Given the description of an element on the screen output the (x, y) to click on. 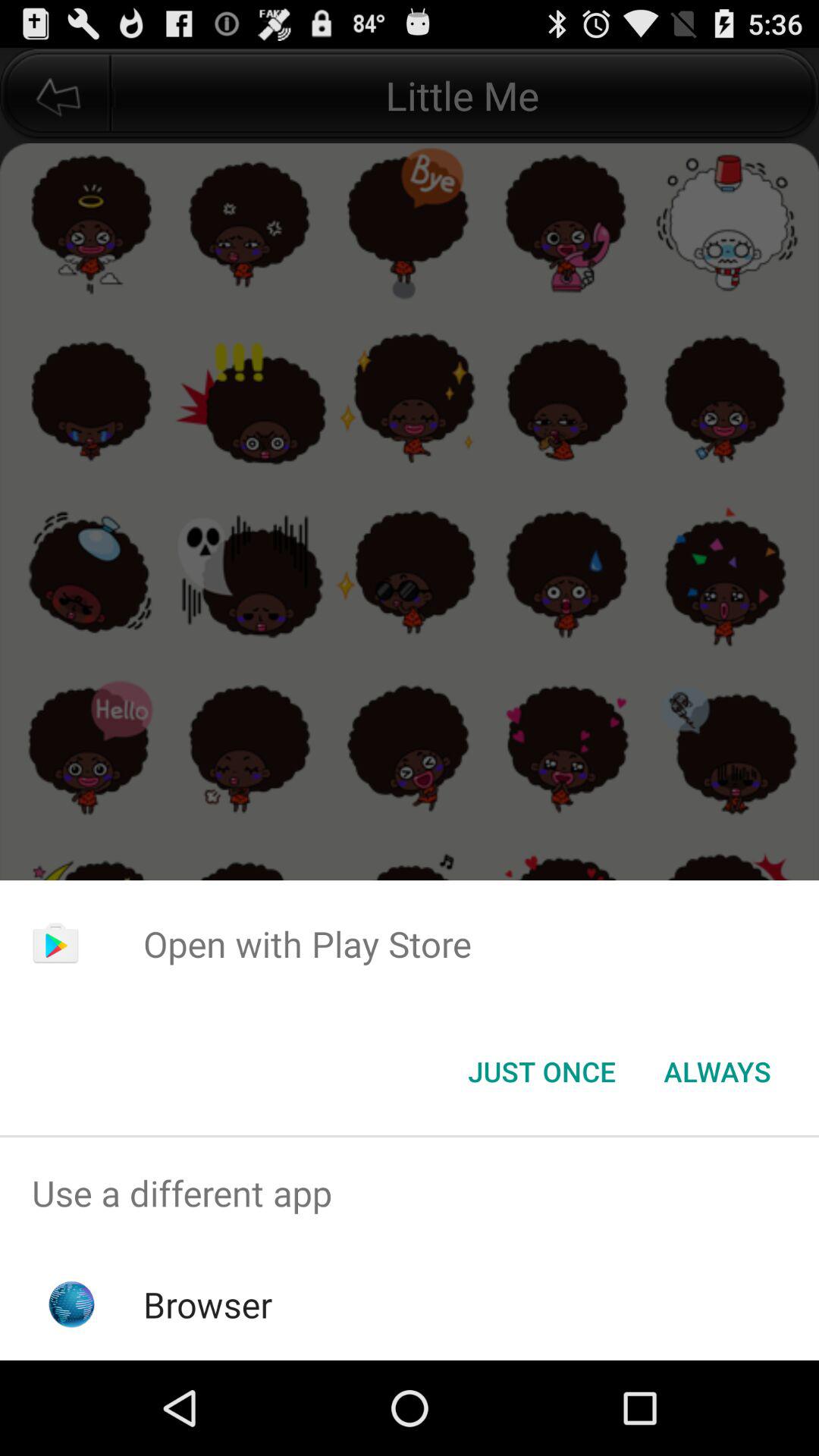
turn on the app below open with play (541, 1071)
